Given the description of an element on the screen output the (x, y) to click on. 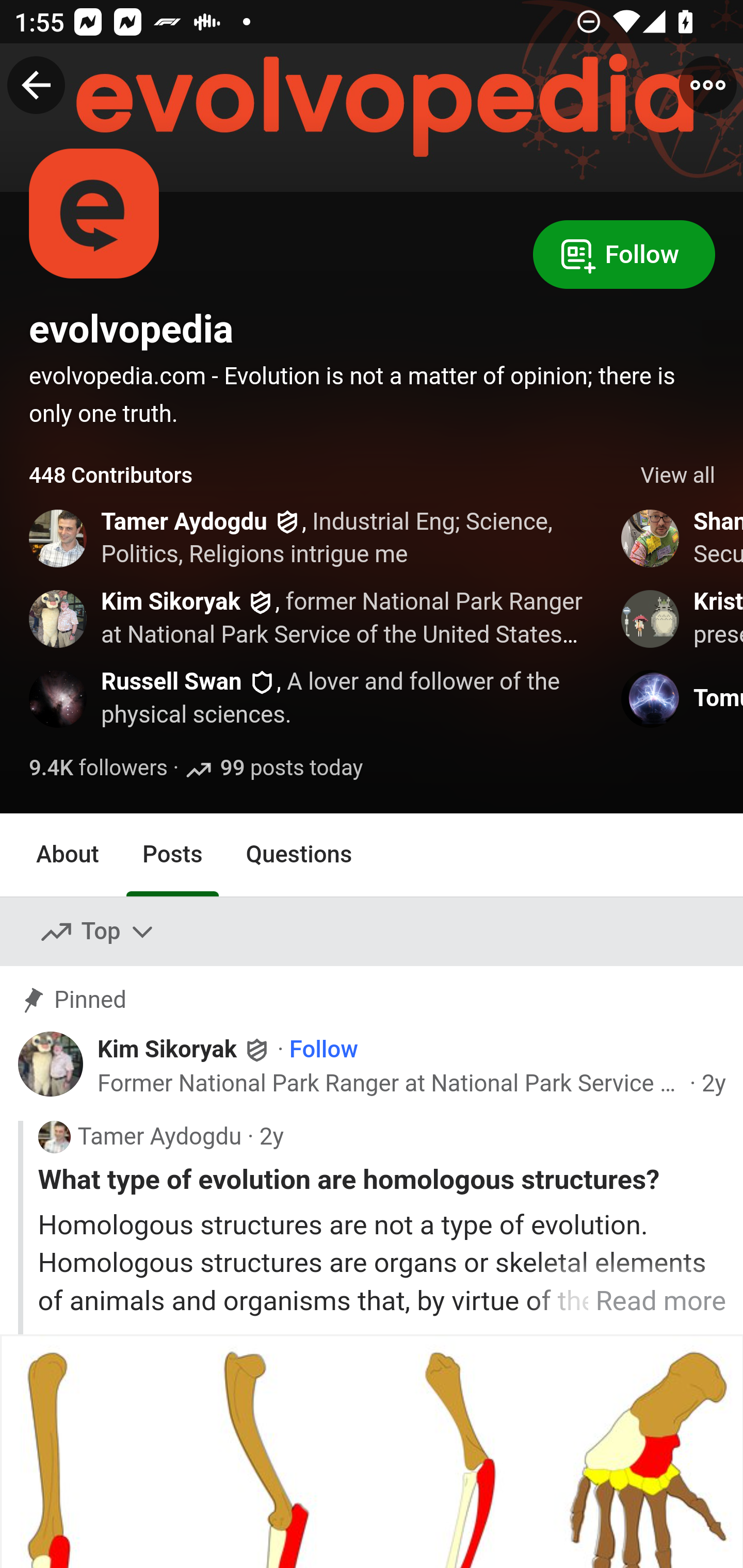
Follow (623, 252)
evolvopedia (131, 329)
View all (677, 475)
Tamer Aydogdu (184, 521)
Profile photo for Tamer Aydogdu (58, 538)
Profile photo for Shane Lee (650, 538)
Kim Sikoryak (171, 601)
Profile photo for Kim Sikoryak (58, 617)
Profile photo for Krister Sundelin (650, 617)
Russell Swan (171, 682)
Profile photo for Russell Swan (58, 699)
Profile photo for Tomurcuk Yelman (650, 699)
9.4K followers (98, 768)
About (68, 854)
Posts (171, 854)
Questions (299, 854)
Top (97, 931)
Profile photo for Kim Sikoryak (50, 1063)
Kim Sikoryak Kim Sikoryak   (184, 1049)
Follow (323, 1051)
Profile photo for Tamer Aydogdu (54, 1137)
